Given the description of an element on the screen output the (x, y) to click on. 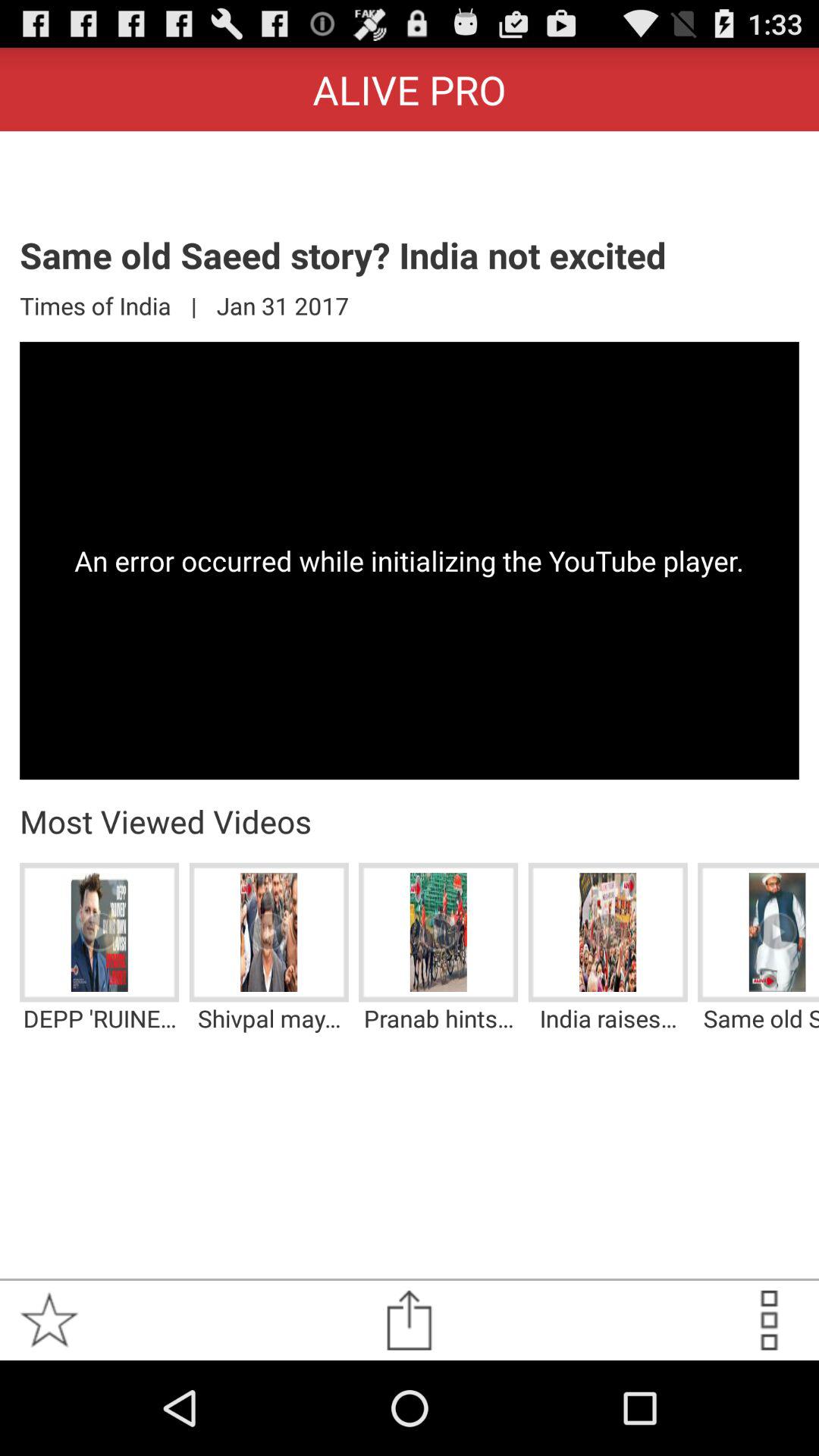
send link (409, 1320)
